Given the description of an element on the screen output the (x, y) to click on. 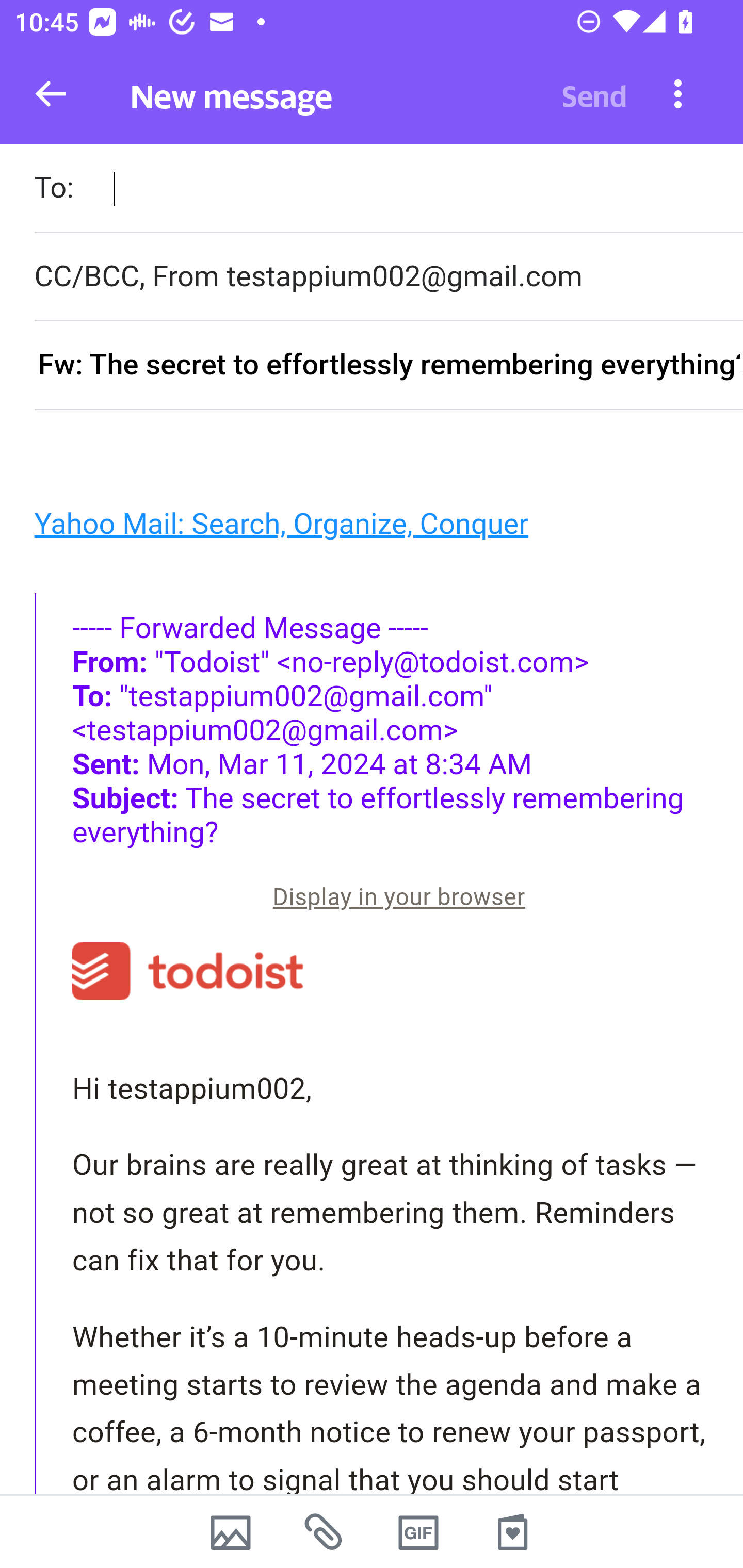
Back (50, 93)
Send (594, 93)
More options (677, 93)
To: (387, 189)
CC/BCC, From testappium002@gmail.com (387, 276)
Camera photos (230, 1531)
Recent attachments from mail (324, 1531)
GIFs (417, 1531)
Stationery (512, 1531)
